Given the description of an element on the screen output the (x, y) to click on. 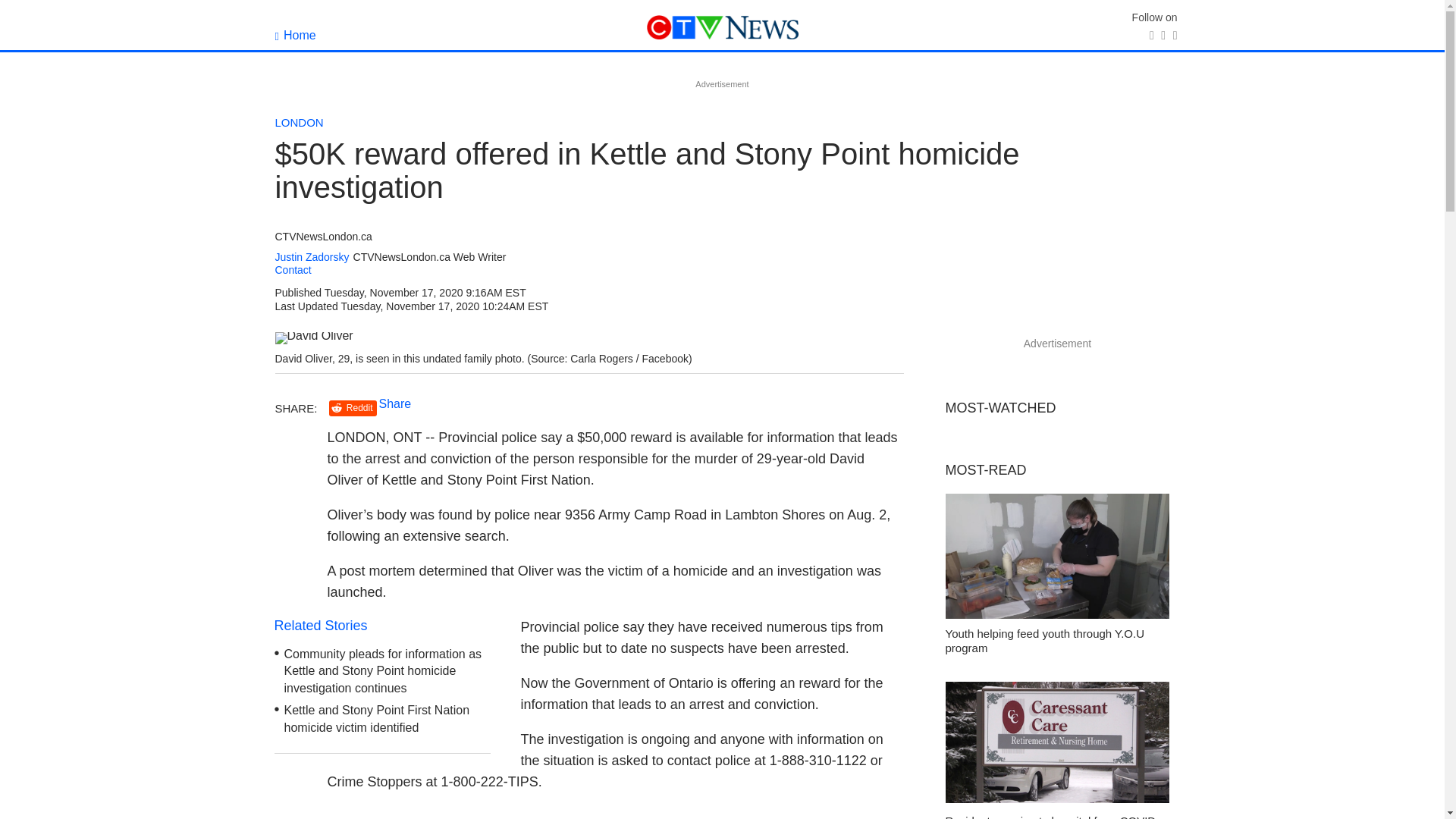
Reddit (353, 408)
David Oliver (313, 337)
Contact (293, 269)
LONDON (299, 122)
Justin Zadorsky (312, 256)
Home (295, 34)
Share (395, 403)
